Given the description of an element on the screen output the (x, y) to click on. 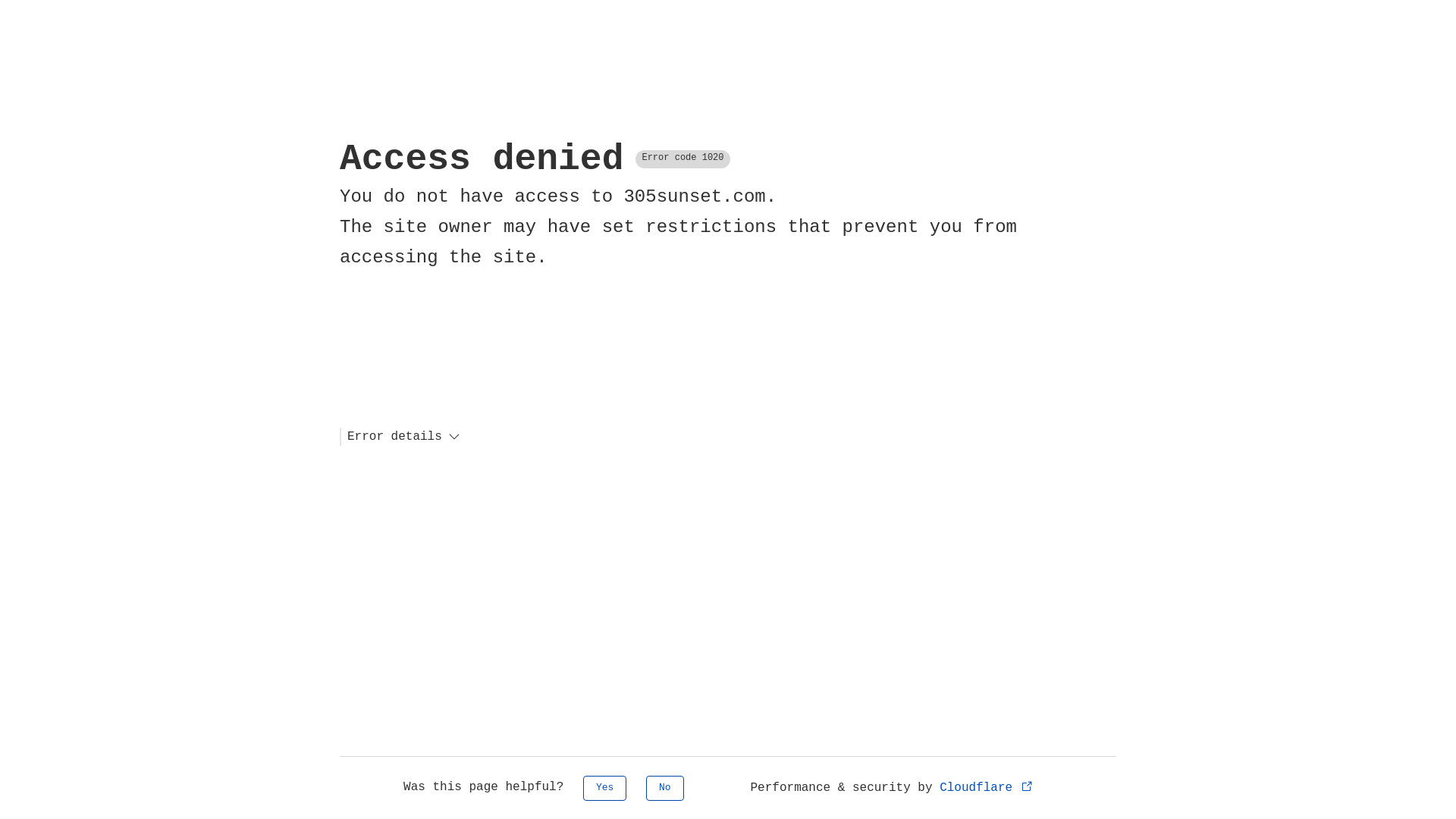
Cloudflare Element type: text (986, 787)
No Element type: text (665, 787)
Opens in new tab Element type: hover (1027, 785)
Yes Element type: text (604, 787)
